Given the description of an element on the screen output the (x, y) to click on. 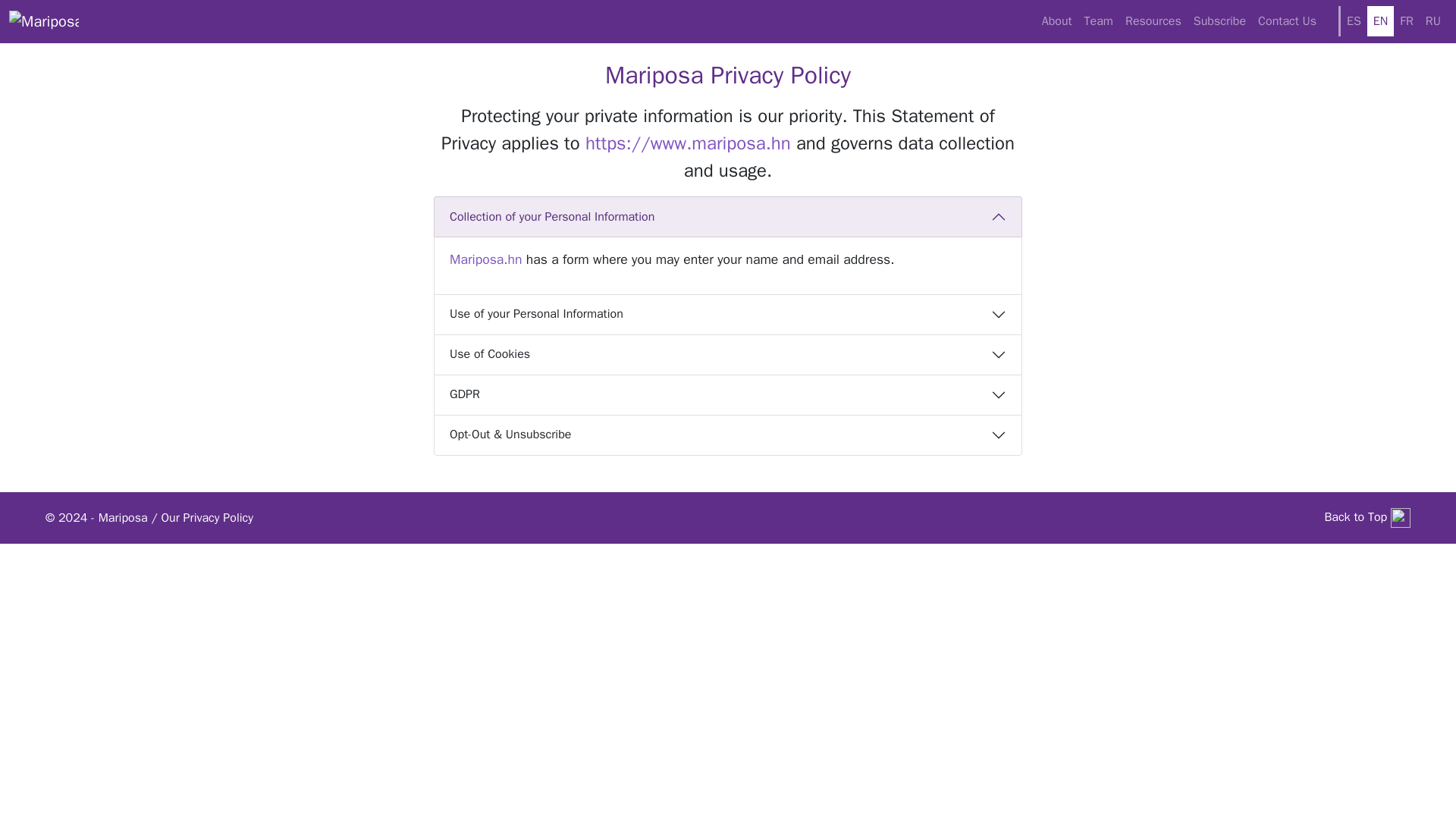
RU (1433, 20)
Subscribe (1220, 20)
Collection of your Personal Information (727, 216)
Back to Top (1366, 516)
Team (1098, 20)
Display website in English (1380, 20)
EN (1380, 20)
GDPR (727, 394)
Contact Us (1287, 20)
Use of Cookies (727, 354)
Resources (1153, 20)
Use of your Personal Information (727, 314)
About (1056, 20)
Our Privacy Policy (205, 517)
